Given the description of an element on the screen output the (x, y) to click on. 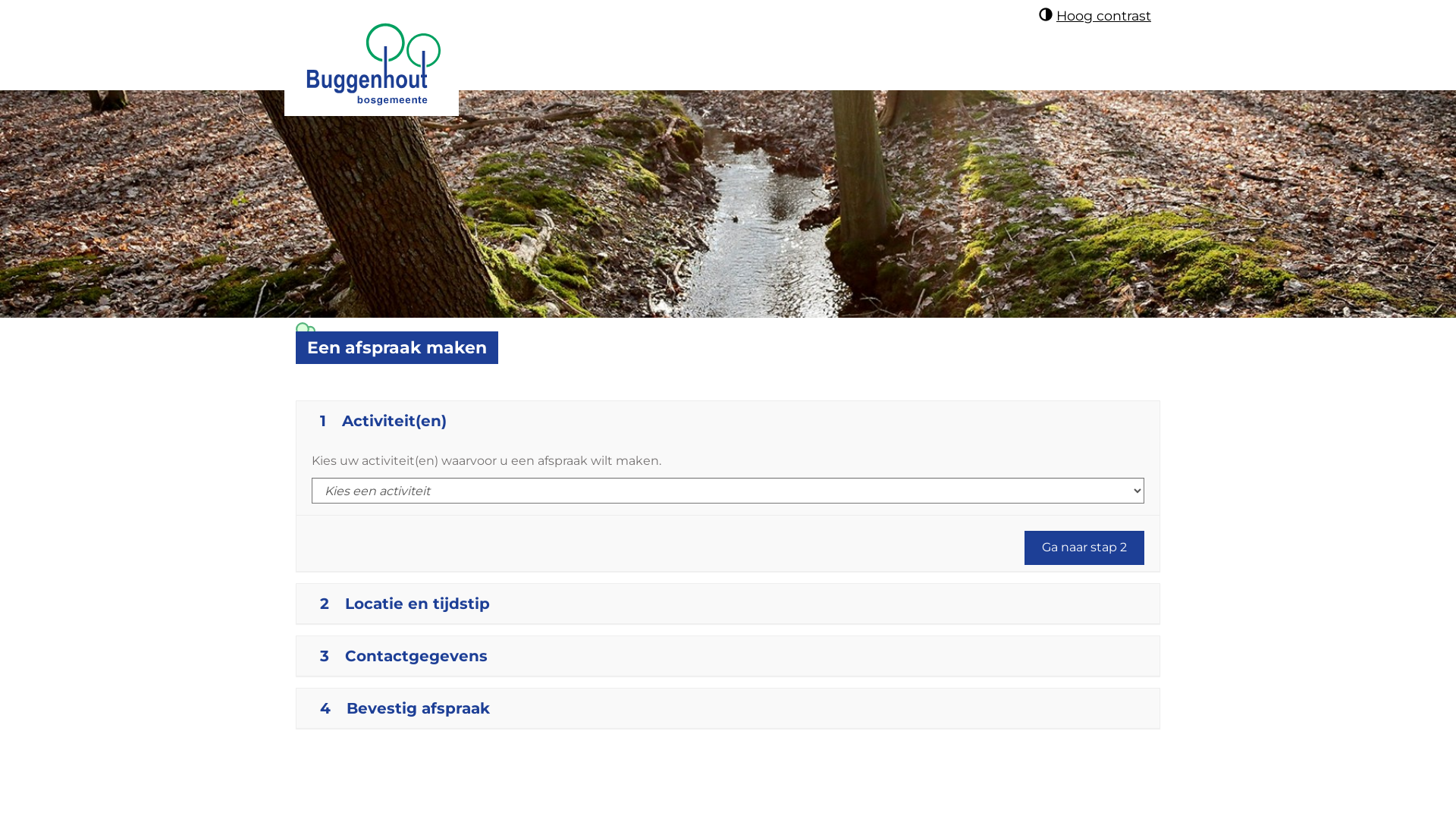
Hoog contrast Element type: text (1094, 15)
Ga naar stap 2 Element type: text (1084, 547)
